Given the description of an element on the screen output the (x, y) to click on. 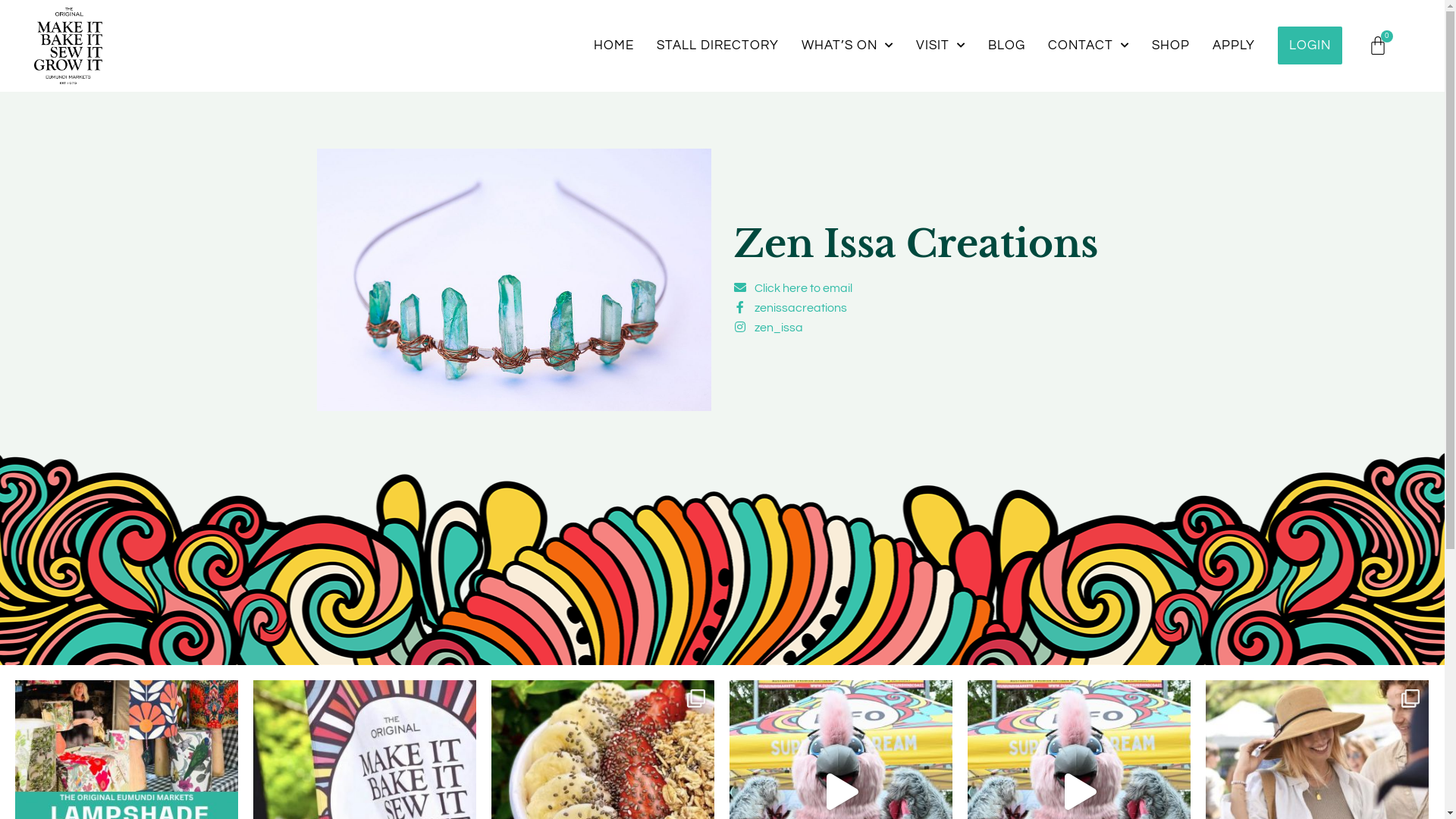
zen_issa Element type: text (768, 327)
VISIT Element type: text (940, 45)
STALL DIRECTORY Element type: text (717, 45)
HOME Element type: text (613, 45)
zenissacreations Element type: text (790, 307)
Click here to email Element type: text (793, 288)
0 Element type: text (1377, 45)
LOGIN Element type: text (1309, 45)
SHOP Element type: text (1170, 45)
CONTACT Element type: text (1088, 45)
BLOG Element type: text (1006, 45)
APPLY Element type: text (1233, 45)
